Given the description of an element on the screen output the (x, y) to click on. 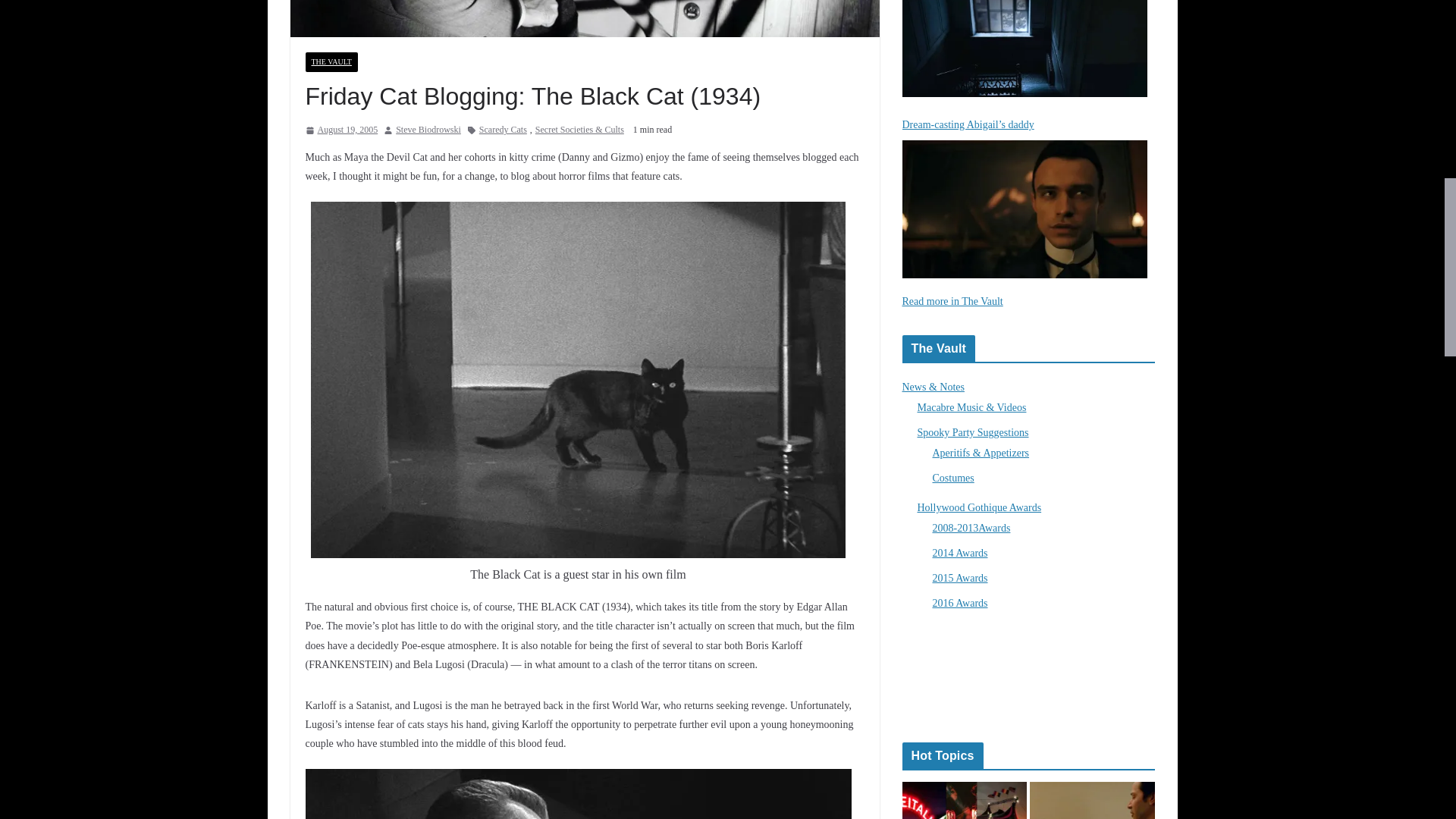
10:33 am (340, 130)
Steve Biodrowski (428, 130)
